Given the description of an element on the screen output the (x, y) to click on. 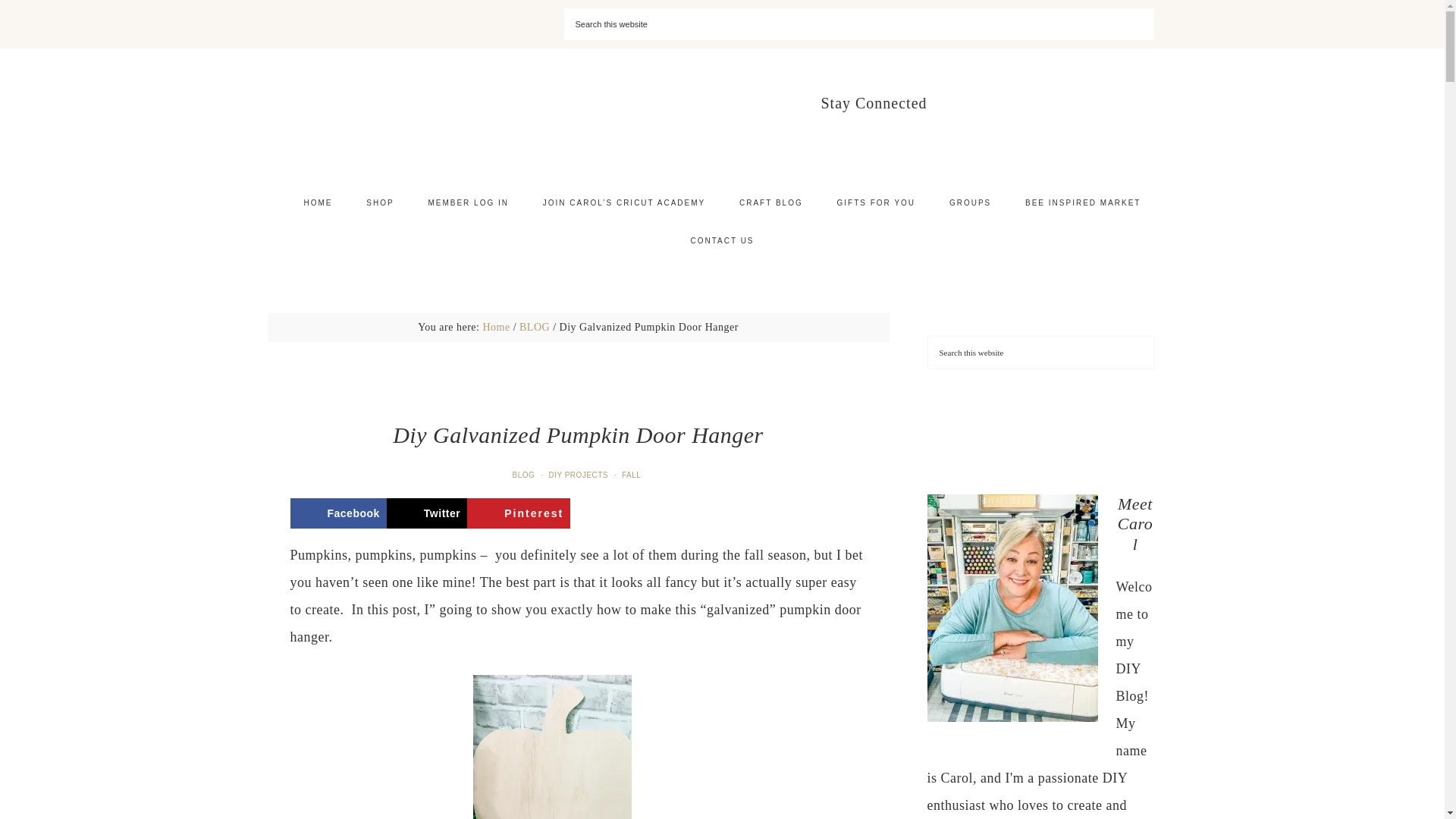
Pinterest (518, 512)
BEE INSPIRED MARKET (1083, 202)
SHOP (379, 202)
BLOG (525, 474)
GIFTS FOR YOU (875, 202)
HOME (317, 202)
Twitter (427, 512)
FALL (632, 474)
MEMBER LOG IN (468, 202)
BLOG (534, 326)
Facebook (337, 512)
Share on Facebook (337, 512)
